Given the description of an element on the screen output the (x, y) to click on. 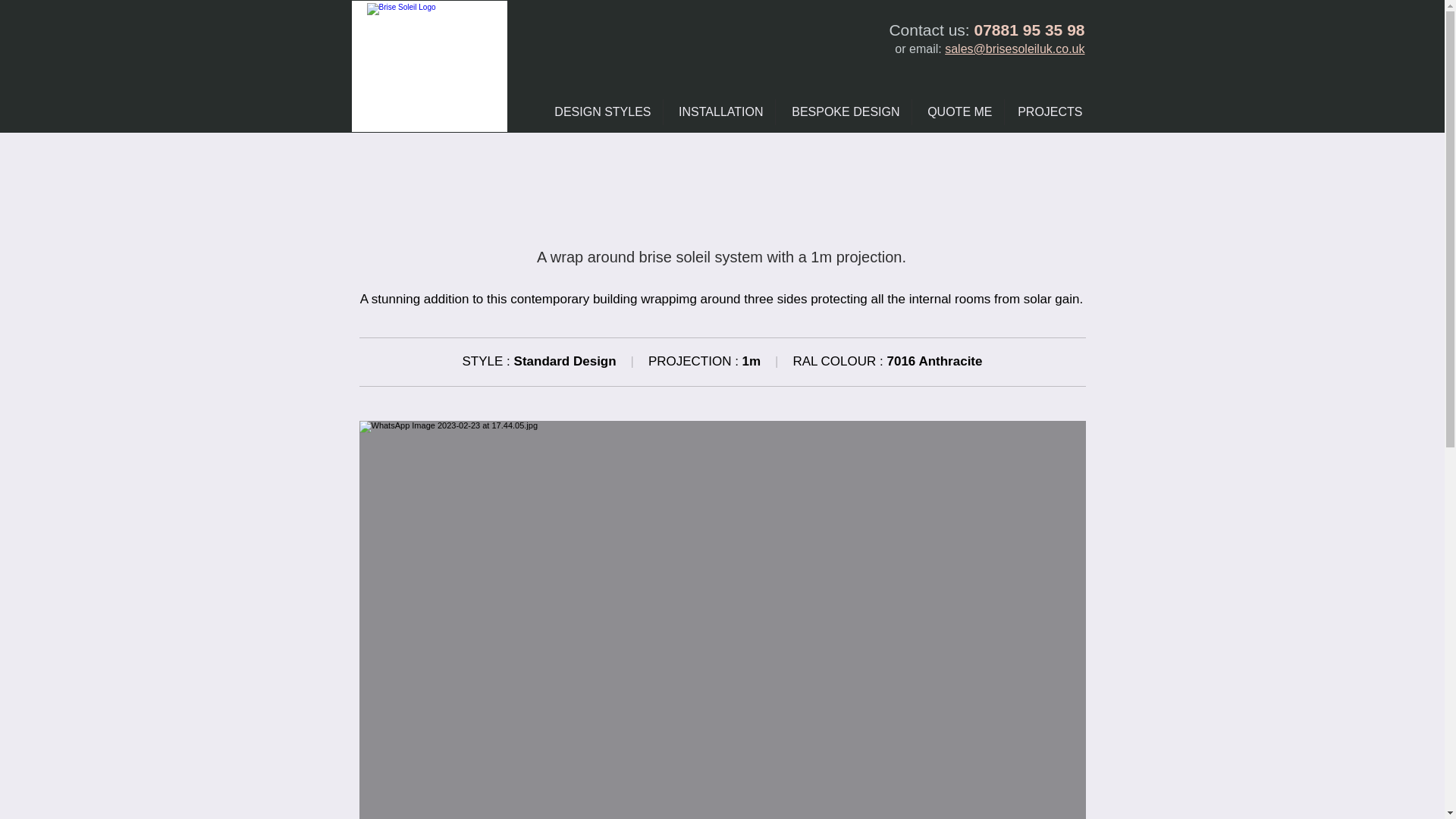
BESPOKE DESIGN (842, 112)
QUOTE ME (957, 112)
PROJECTS (1048, 112)
DESIGN STYLES (601, 112)
INSTALLATION (718, 112)
